Given the description of an element on the screen output the (x, y) to click on. 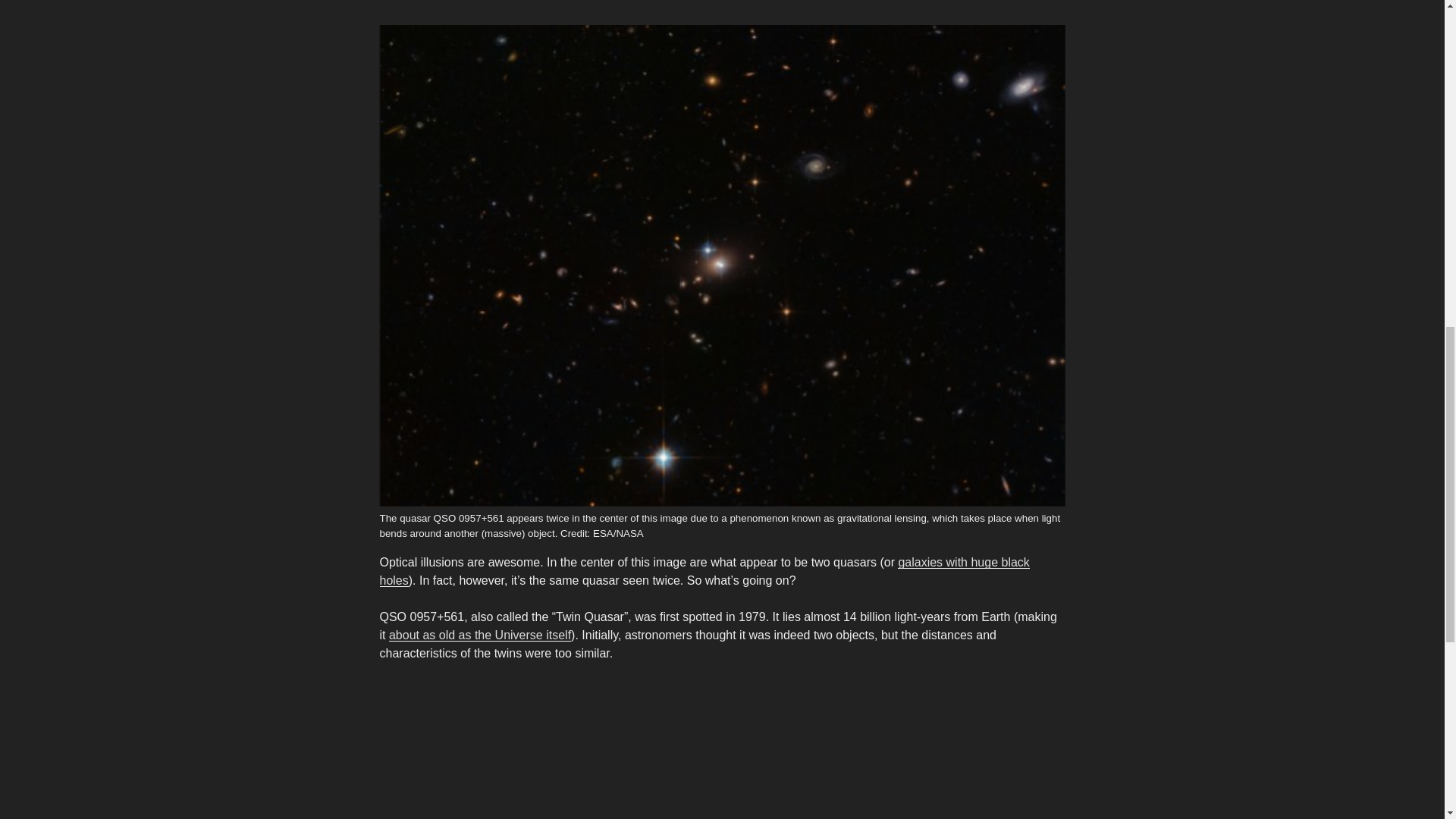
Advertisement (721, 749)
galaxies with huge black holes (703, 571)
about as old as the Universe itself (479, 634)
